Given the description of an element on the screen output the (x, y) to click on. 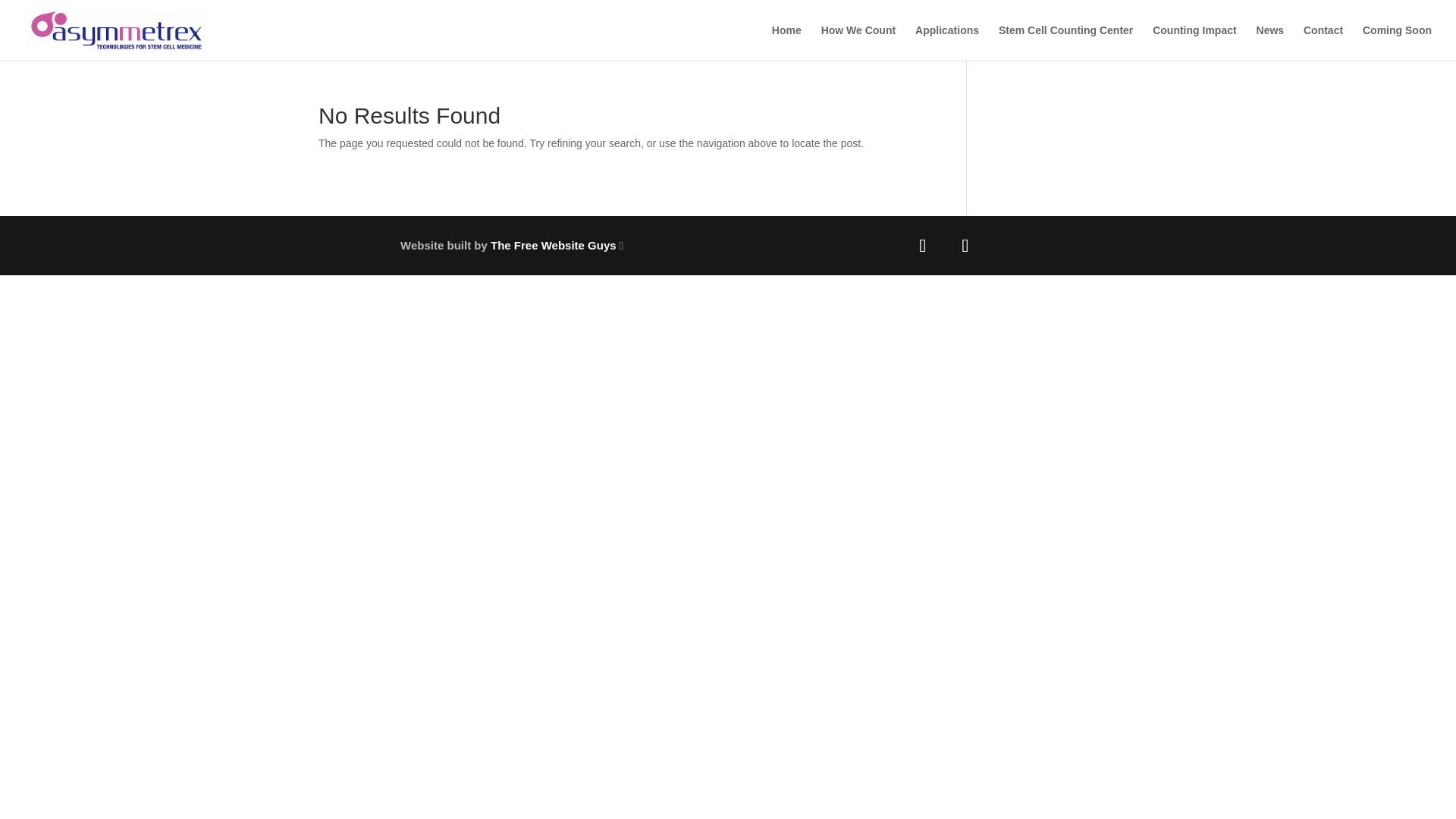
Applications (946, 42)
Follow on Facebook (922, 245)
The Free Website Guys (552, 245)
Follow on Instagram (965, 245)
Counting Impact (1194, 42)
Contact (1322, 42)
Coming Soon (1396, 42)
How We Count (858, 42)
Stem Cell Counting Center (1065, 42)
